Given the description of an element on the screen output the (x, y) to click on. 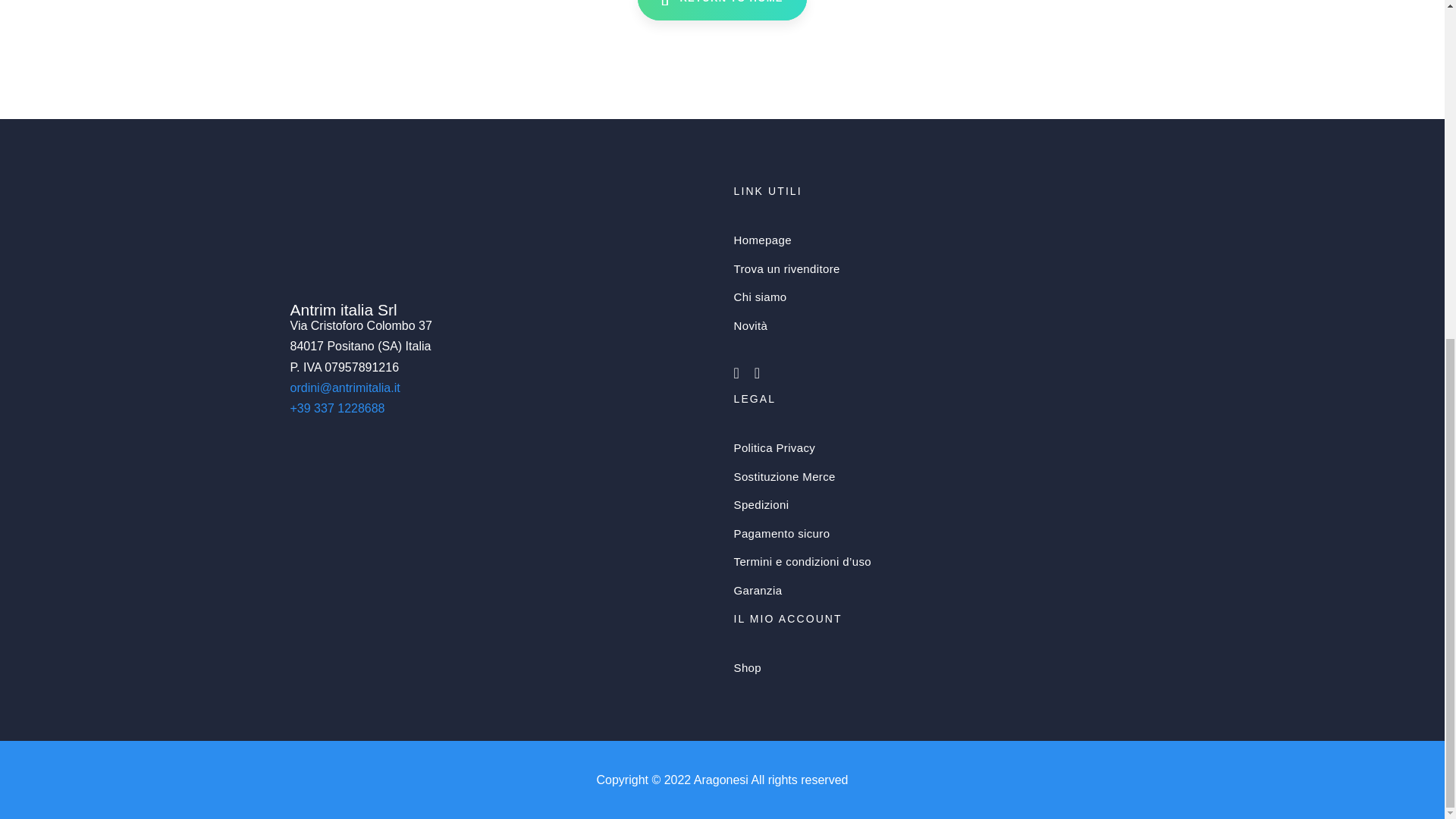
Homepage (943, 240)
Politica Privacy (943, 448)
Chi siamo (943, 297)
Spedizioni (943, 504)
Garanzia (943, 590)
RETURN TO HOME (721, 10)
Shop (943, 667)
Trova un rivenditore (943, 268)
Pagamento sicuro (943, 533)
Sostituzione Merce (943, 476)
